Given the description of an element on the screen output the (x, y) to click on. 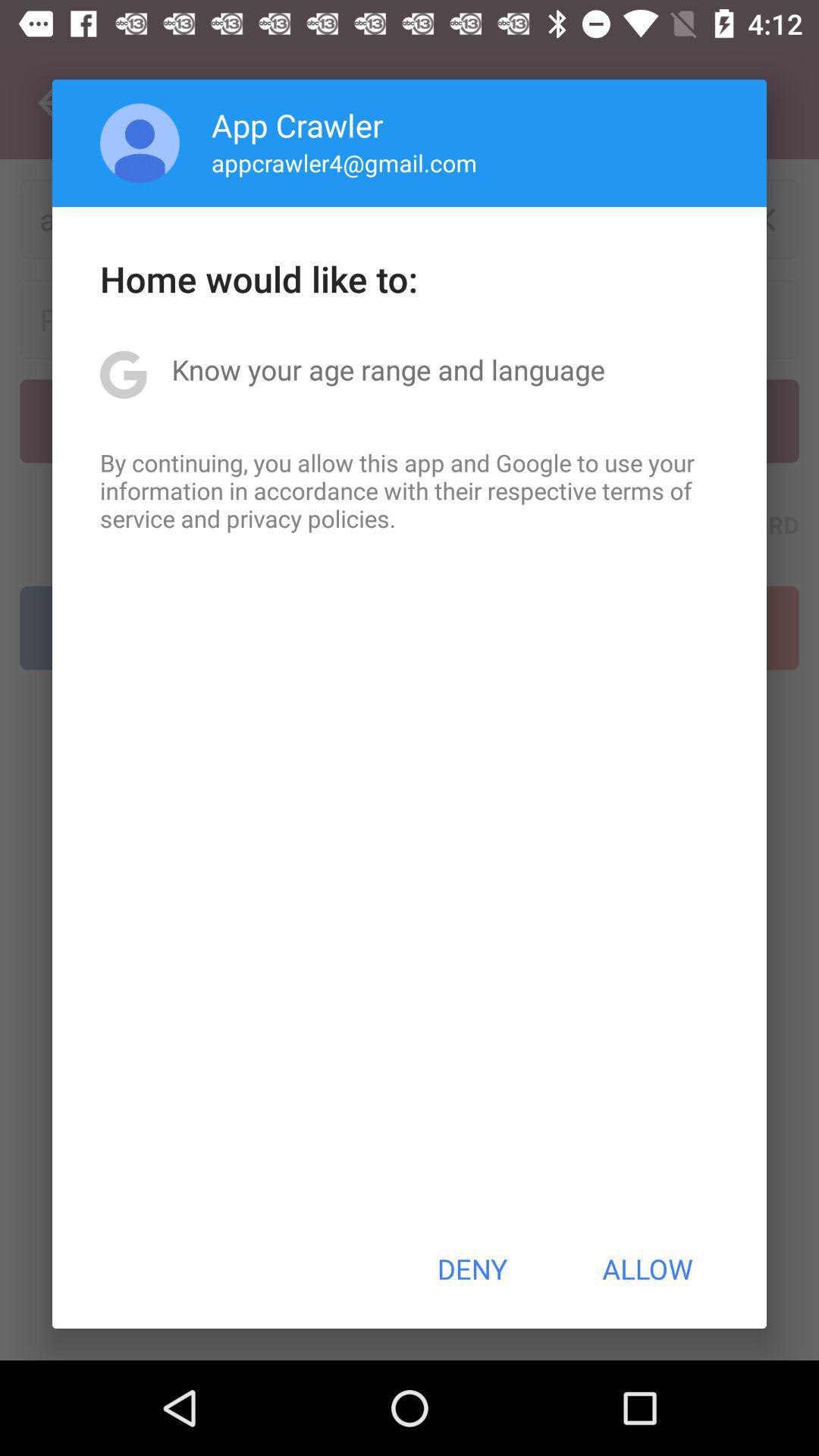
tap icon above the by continuing you icon (388, 369)
